Given the description of an element on the screen output the (x, y) to click on. 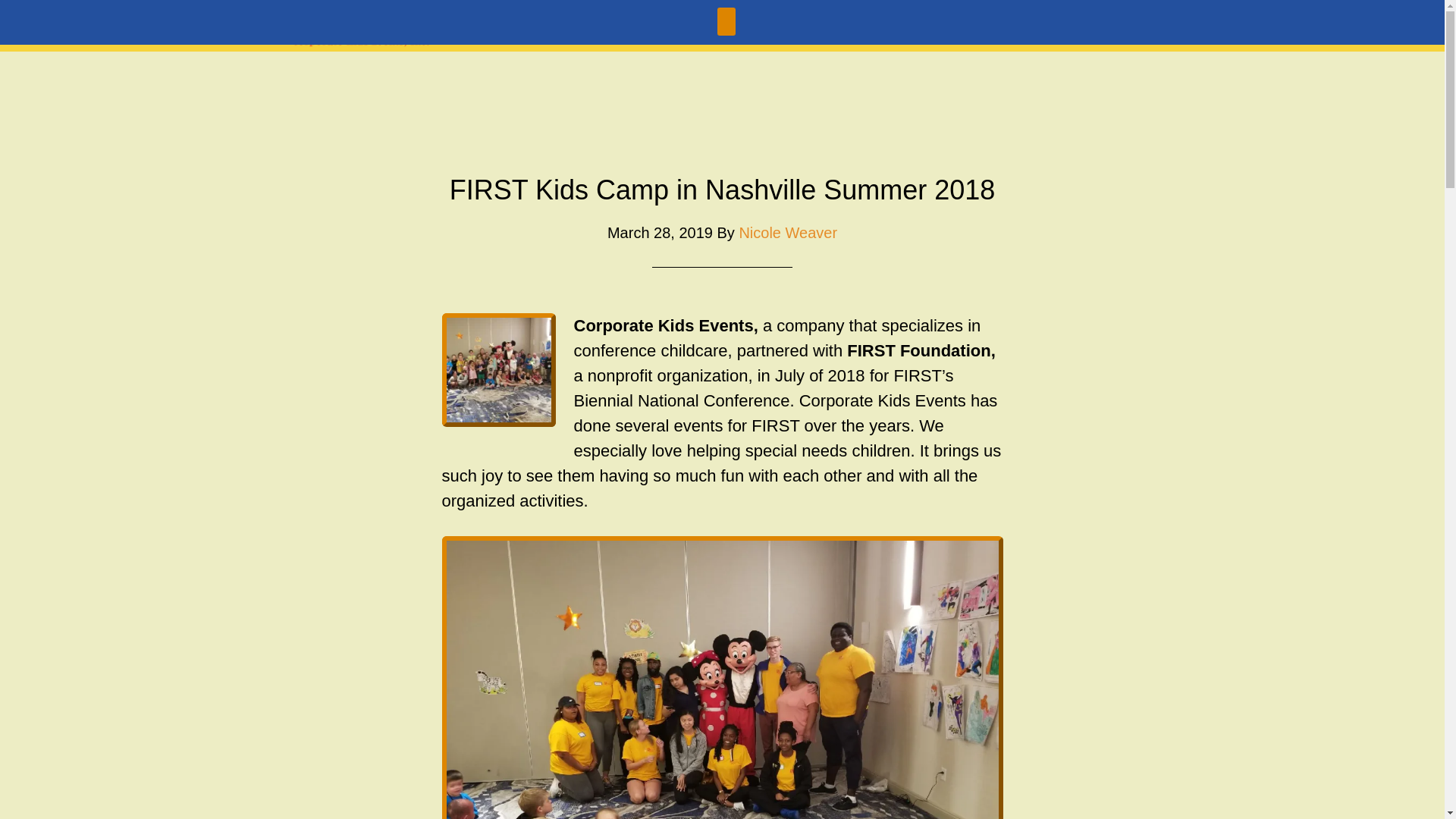
CONTACT (895, 25)
HOME (540, 25)
EVENTS (802, 25)
SERVICES (708, 25)
APPLY TO WORK WITH CKE (1049, 25)
FIRST Kids Camp in Nashville Summer 2018 (722, 189)
CORPORATE KIDS EVENTS (365, 23)
Nicole Weaver (787, 232)
ABOUT (617, 25)
